Given the description of an element on the screen output the (x, y) to click on. 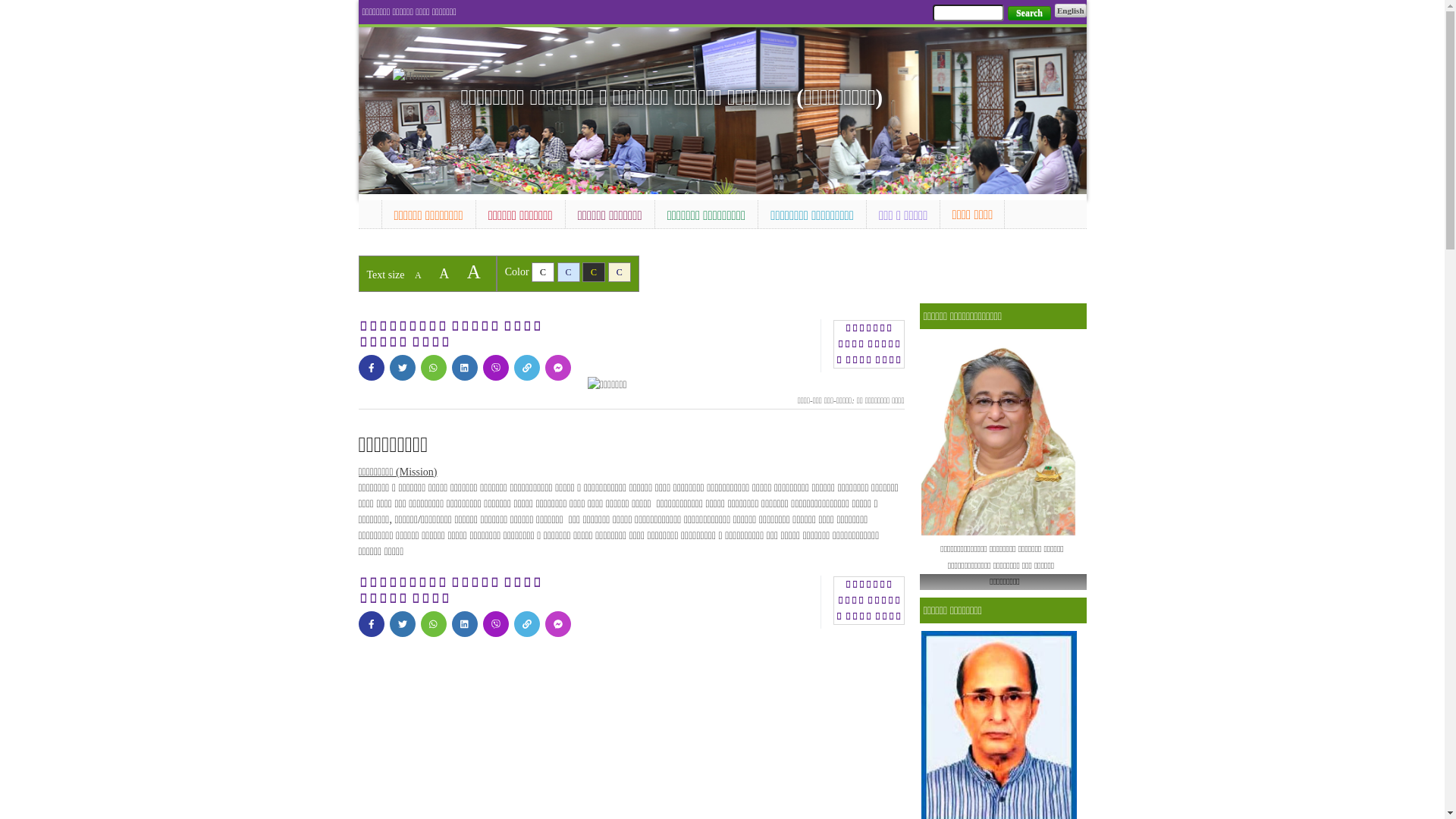
C Element type: text (619, 272)
Home Element type: hover (368, 211)
C Element type: text (593, 272)
C Element type: text (568, 272)
C Element type: text (542, 272)
A Element type: text (418, 275)
English Element type: text (1069, 10)
Home Element type: hover (418, 76)
A Element type: text (473, 271)
Search Element type: text (1029, 13)
A Element type: text (443, 273)
